Given the description of an element on the screen output the (x, y) to click on. 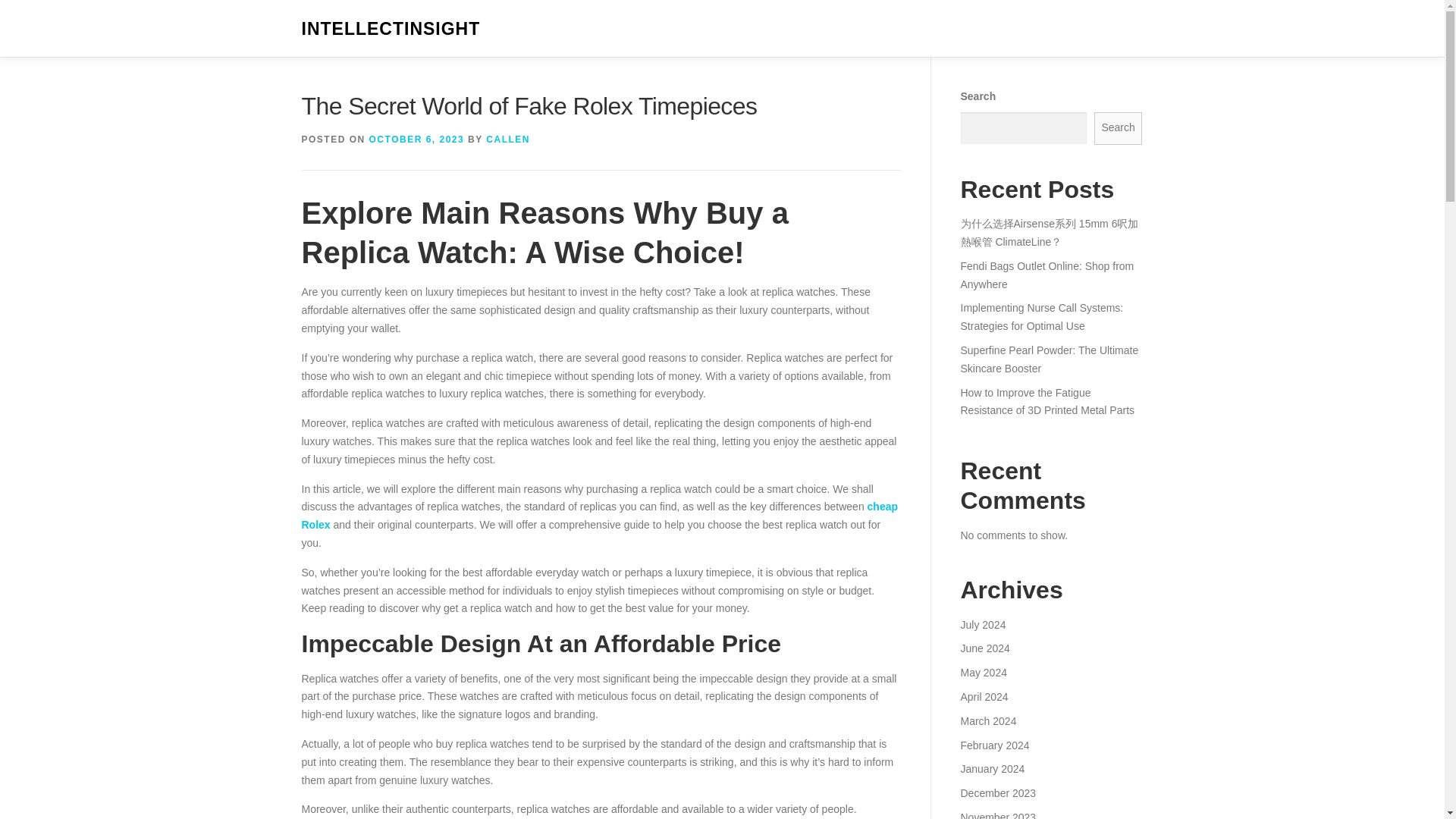
Implementing Nurse Call Systems: Strategies for Optimal Use (1040, 317)
March 2024 (987, 720)
January 2024 (992, 768)
June 2024 (984, 648)
May 2024 (982, 672)
INTELLECTINSIGHT (390, 29)
February 2024 (994, 744)
November 2023 (997, 815)
OCTOBER 6, 2023 (416, 139)
December 2023 (997, 793)
CALLEN (507, 139)
Fendi Bags Outlet Online: Shop from Anywhere (1046, 275)
Superfine Pearl Powder: The Ultimate Skincare Booster (1048, 358)
cheap Rolex (599, 515)
